Given the description of an element on the screen output the (x, y) to click on. 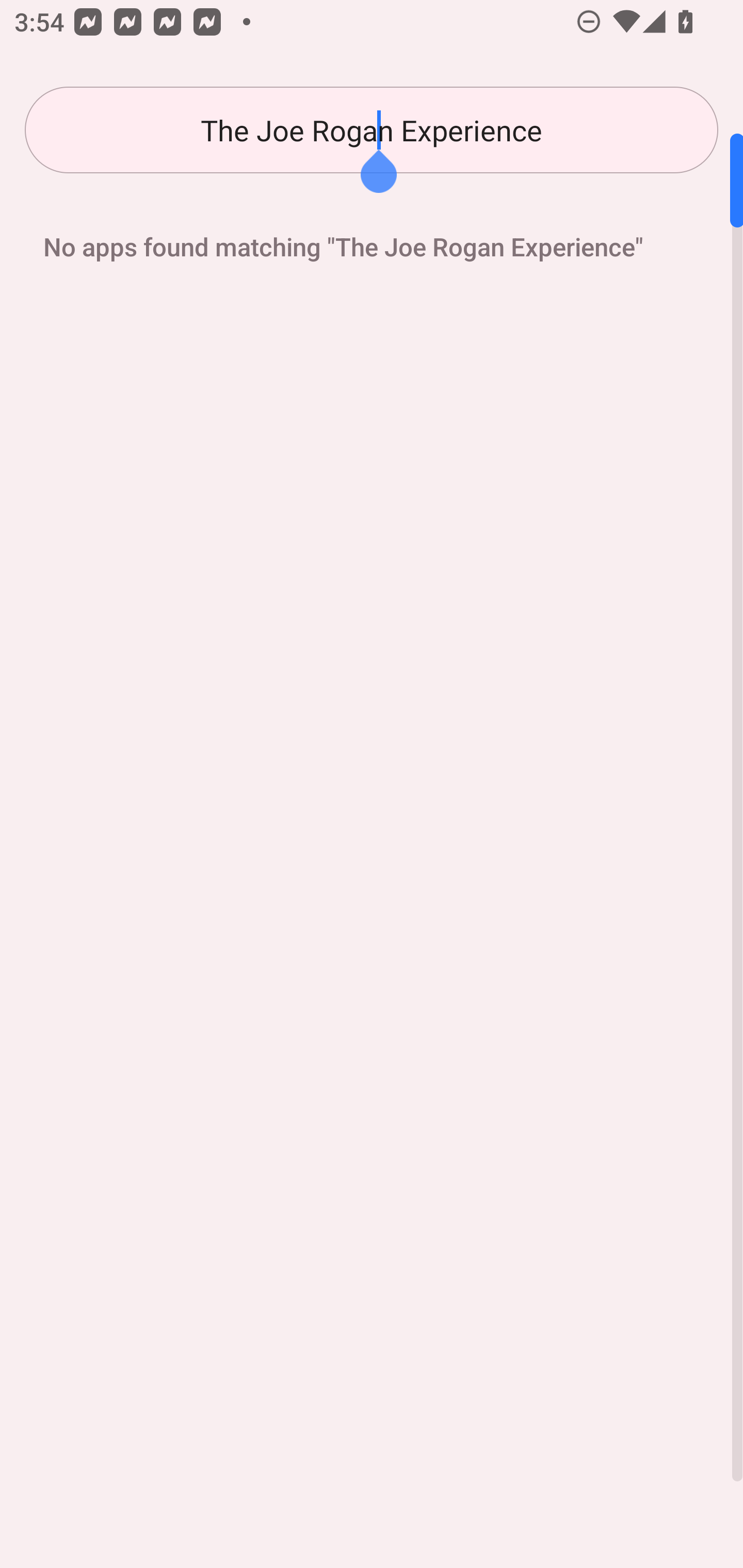
The Joe Rogan Experience (371, 130)
